Given the description of an element on the screen output the (x, y) to click on. 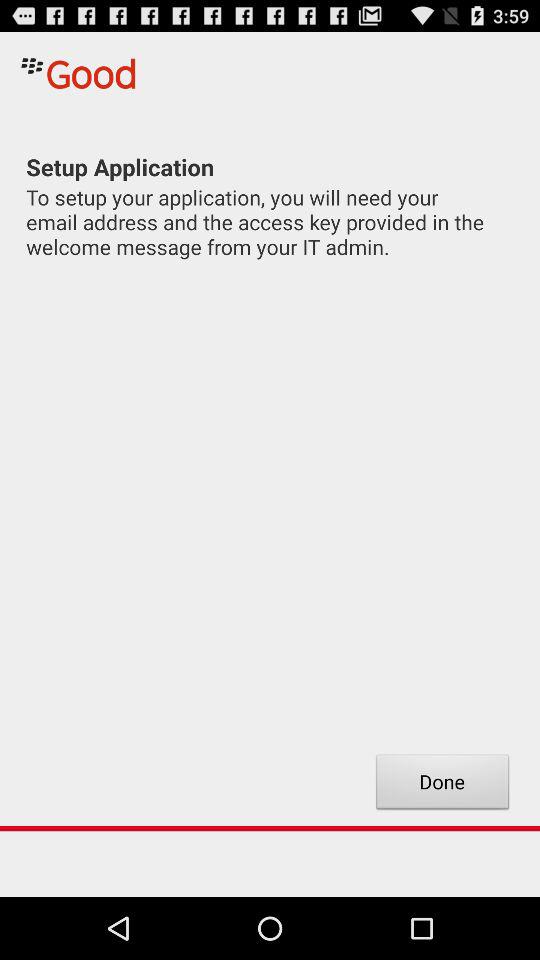
click the item below to setup your icon (442, 784)
